Given the description of an element on the screen output the (x, y) to click on. 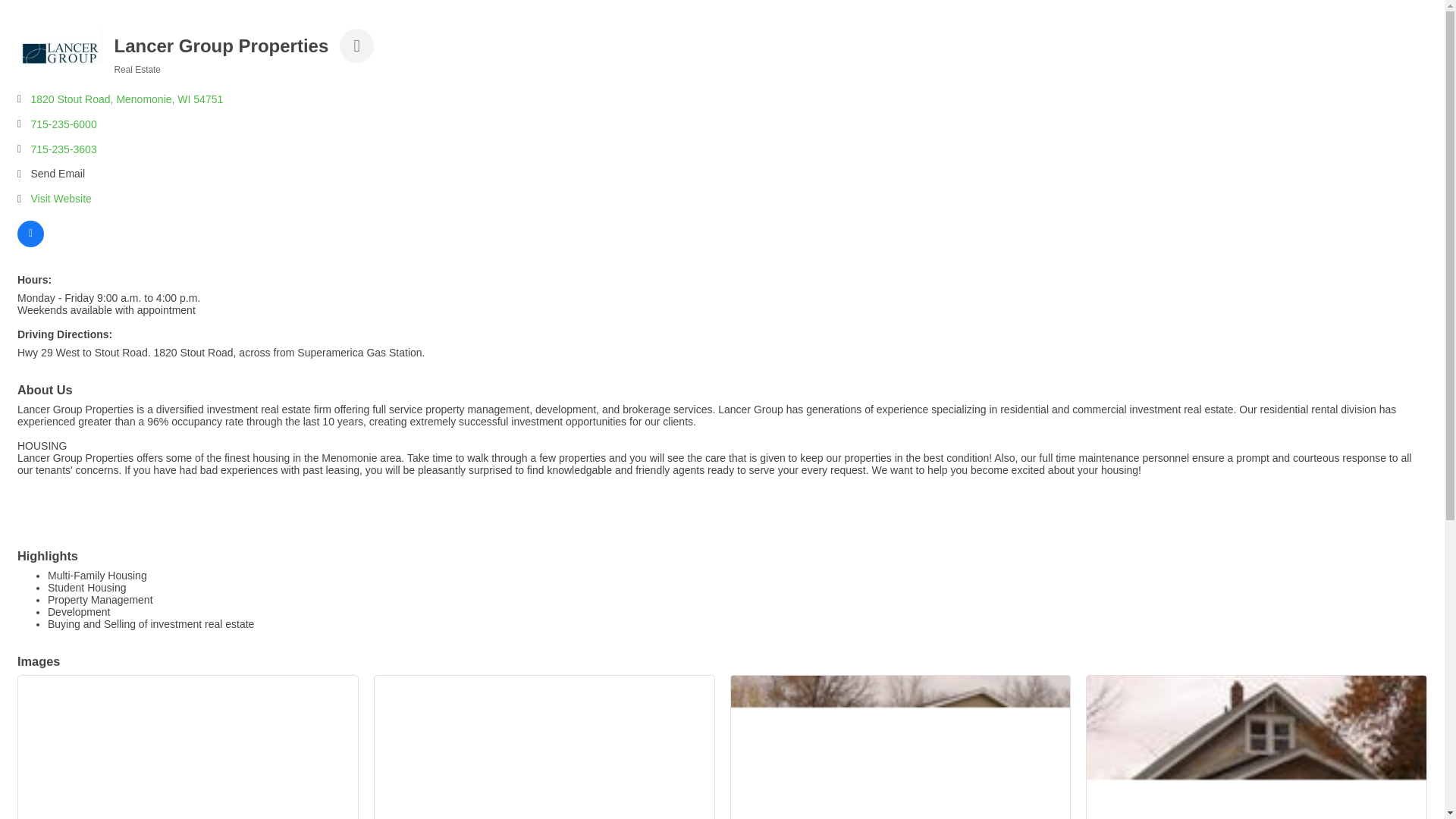
Visit Website (60, 198)
715-235-6000 (63, 124)
715-235-3603 (63, 149)
View on Facebook (30, 243)
Lancer Group Properties (60, 57)
1820 Stout Road Menomonie WI 54751 (126, 99)
Send Email (57, 173)
